Given the description of an element on the screen output the (x, y) to click on. 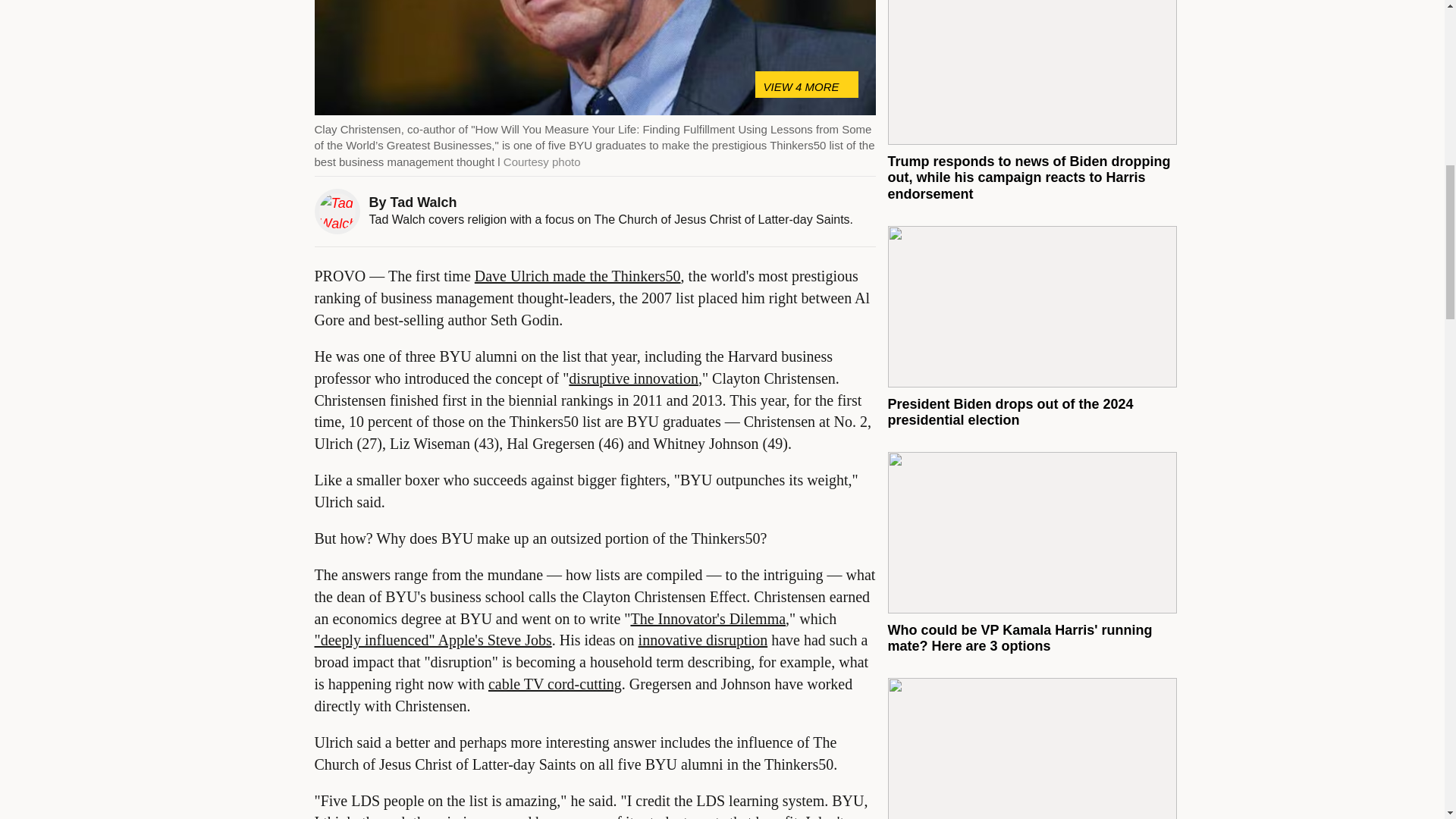
disruptive innovation (633, 378)
Dave Ulrich made the Thinkers50 (577, 275)
The Innovator's Dilemma (708, 618)
"deeply influenced" Apple's Steve Jobs (432, 639)
cable TV cord-cutting (554, 683)
Tad Walch (423, 201)
innovative disruption (703, 639)
